Given the description of an element on the screen output the (x, y) to click on. 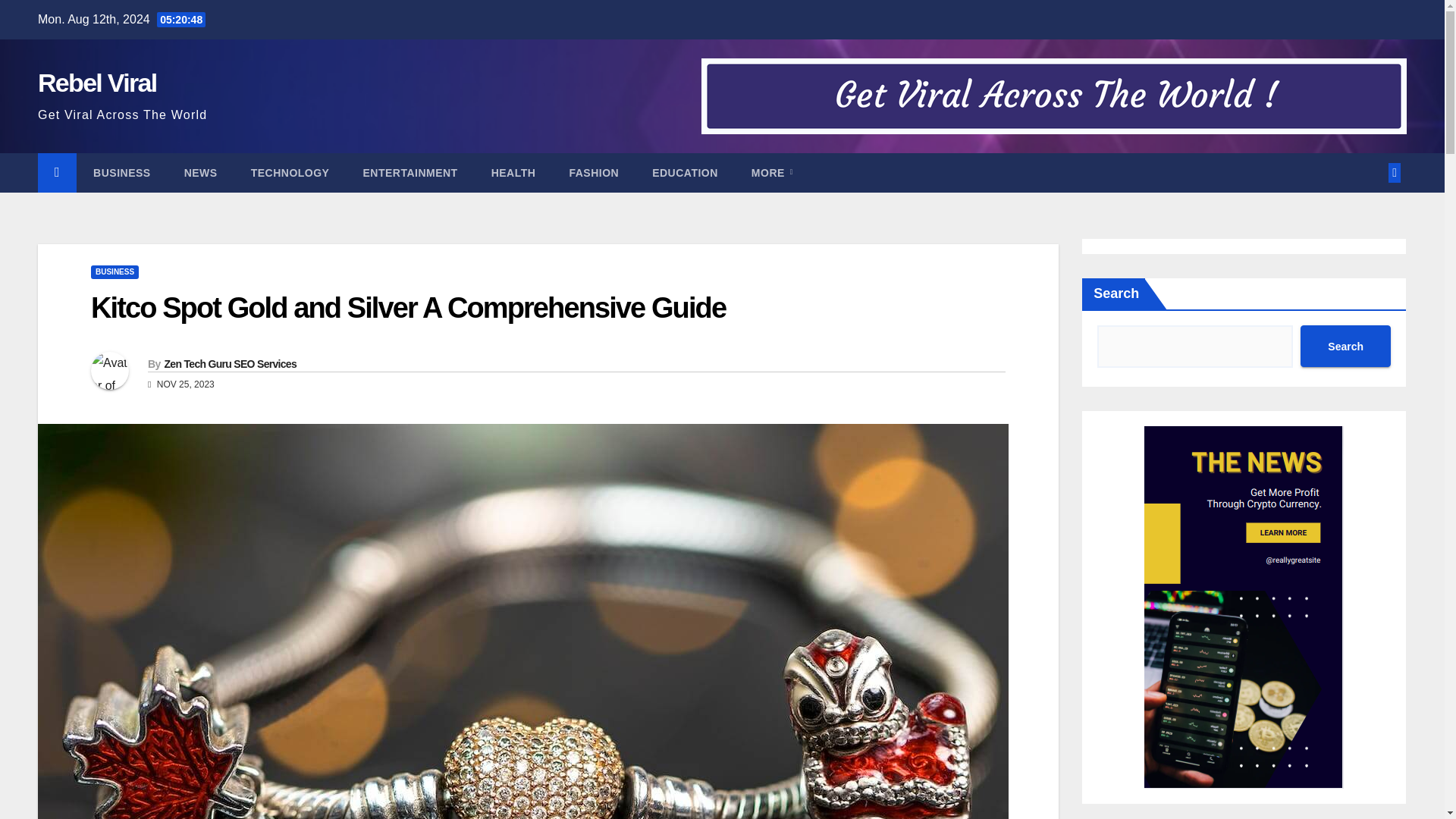
Health (513, 172)
HEALTH (513, 172)
TECHNOLOGY (290, 172)
Zen Tech Guru SEO Services (230, 363)
ENTERTAINMENT (410, 172)
EDUCATION (684, 172)
Entertainment (410, 172)
Search (1345, 345)
FASHION (592, 172)
